Given the description of an element on the screen output the (x, y) to click on. 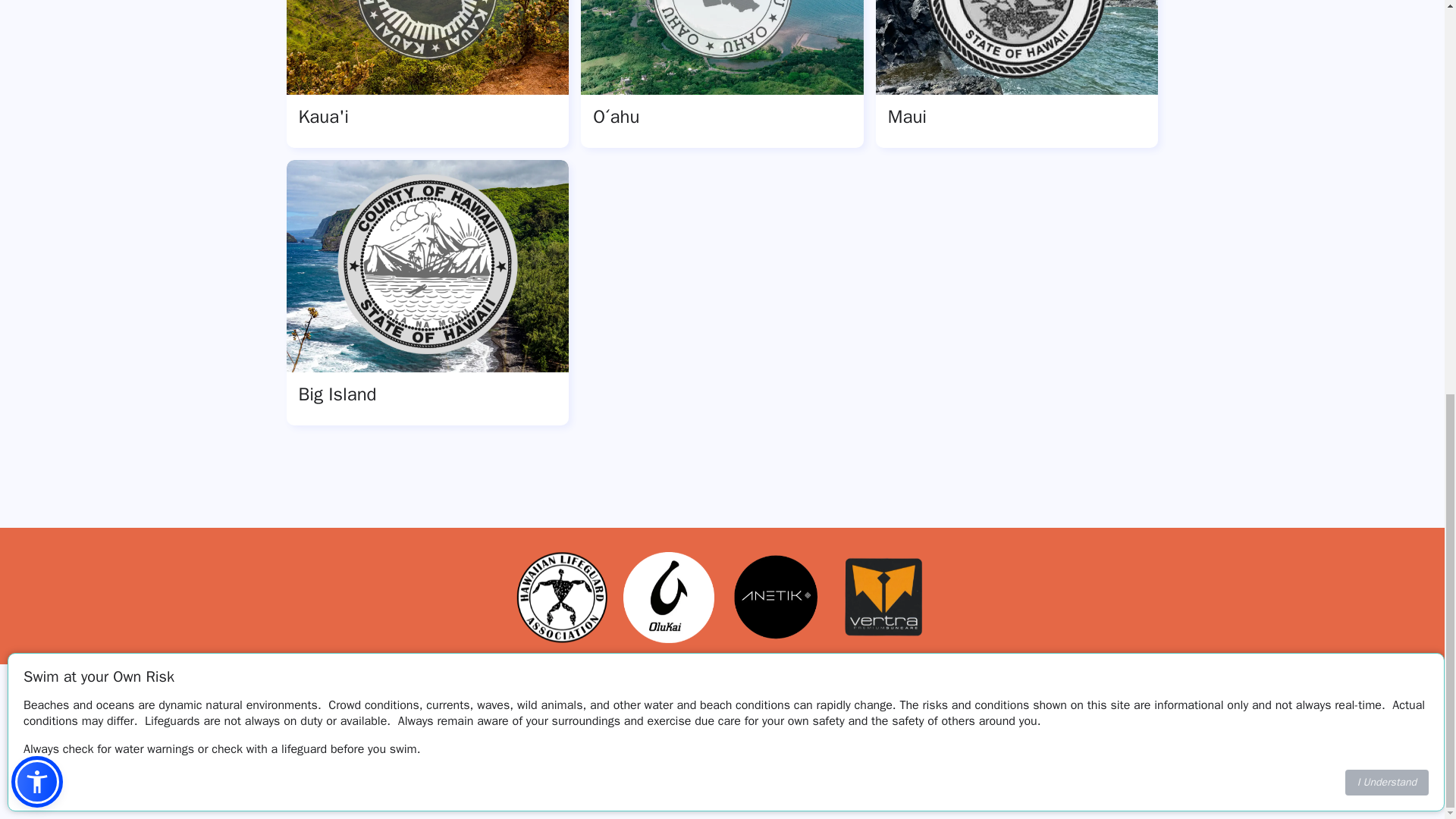
Terms of Service (530, 768)
Safe Beach Day (399, 760)
Request a beach (936, 768)
Maui (1017, 74)
I Understand (1386, 22)
Watchtower (388, 783)
My Alerts (831, 768)
Big Island (427, 292)
Kaua'I (427, 74)
Privacy Policy (640, 768)
Open Accessibility Menu (36, 22)
Cookie Policy (741, 768)
